Given the description of an element on the screen output the (x, y) to click on. 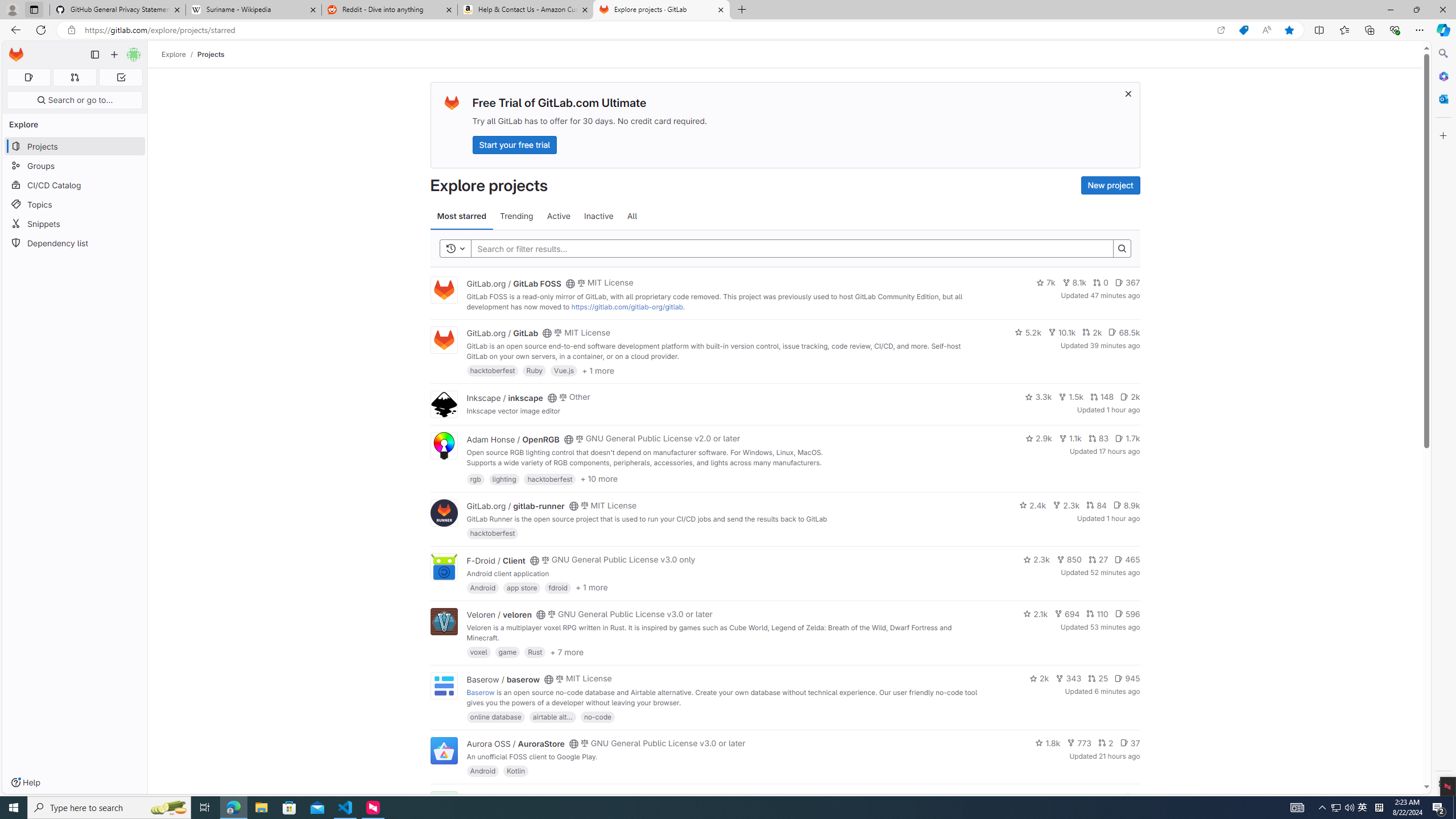
148 (1101, 396)
68.5k (1124, 331)
To-Do list 0 (120, 76)
367 (1127, 282)
2k (1039, 678)
Topics (74, 203)
945 (1127, 678)
